Given the description of an element on the screen output the (x, y) to click on. 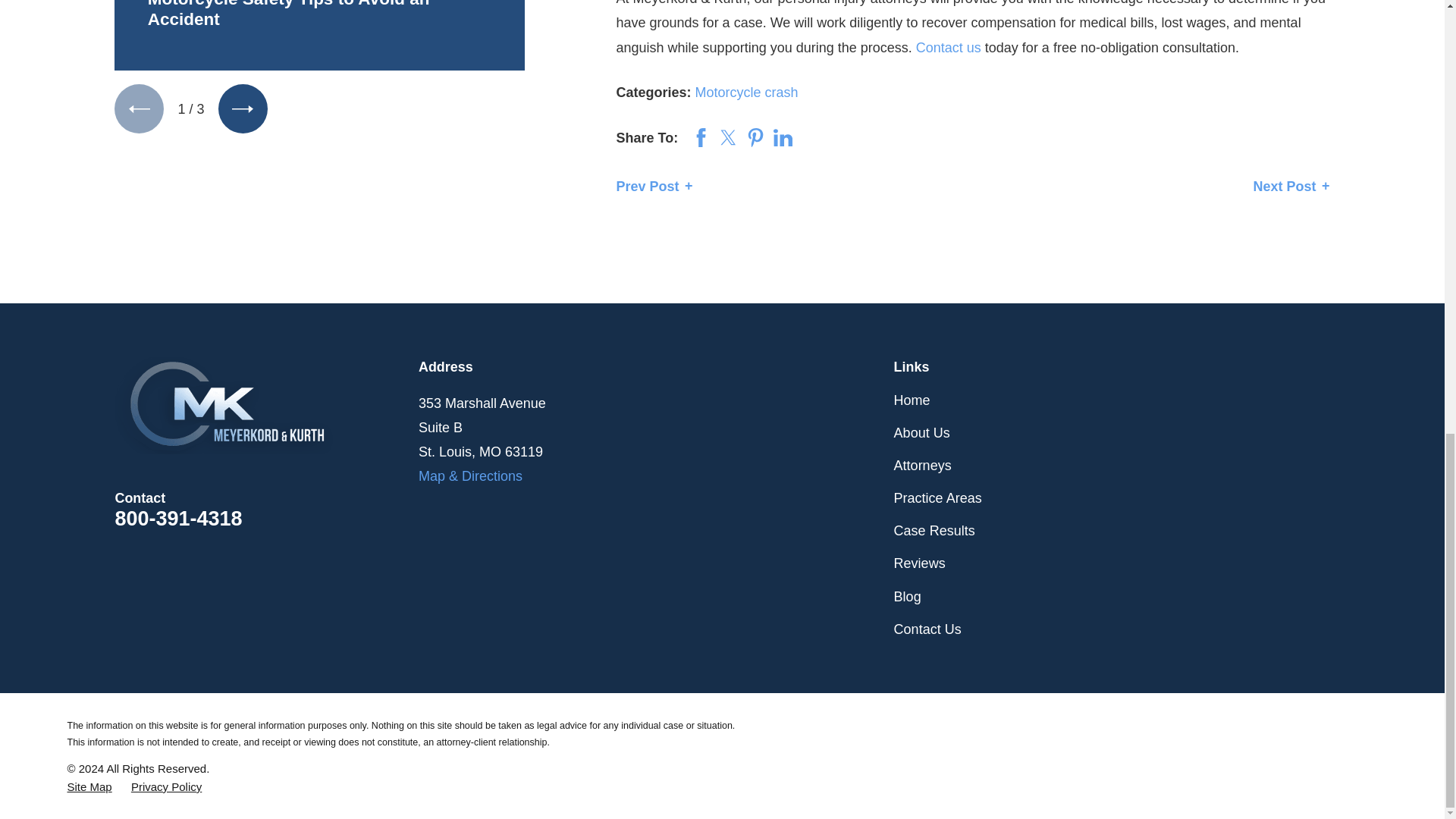
View previous item (139, 108)
Home (267, 405)
View next item (242, 108)
